Given the description of an element on the screen output the (x, y) to click on. 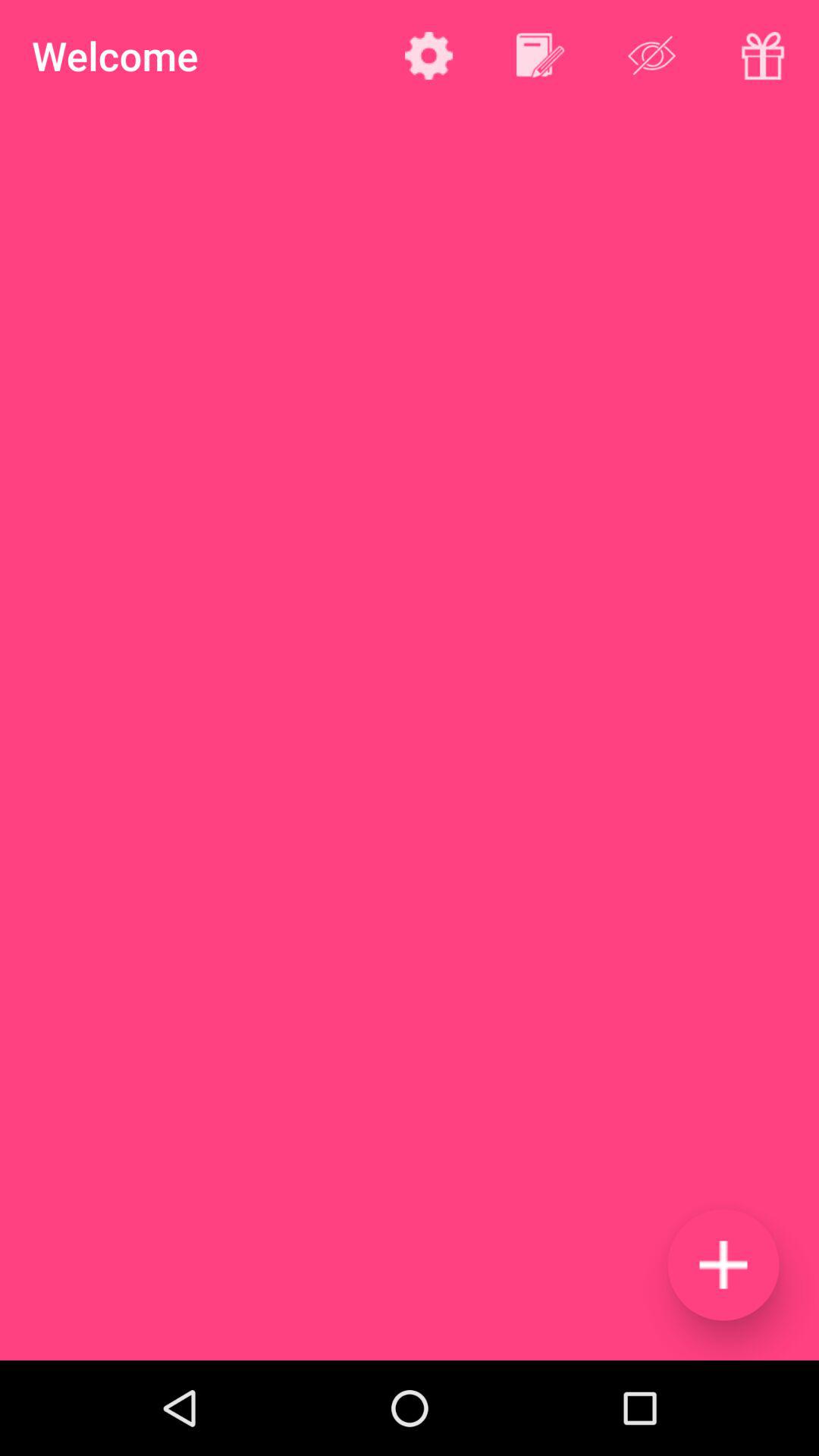
send gift (763, 55)
